Given the description of an element on the screen output the (x, y) to click on. 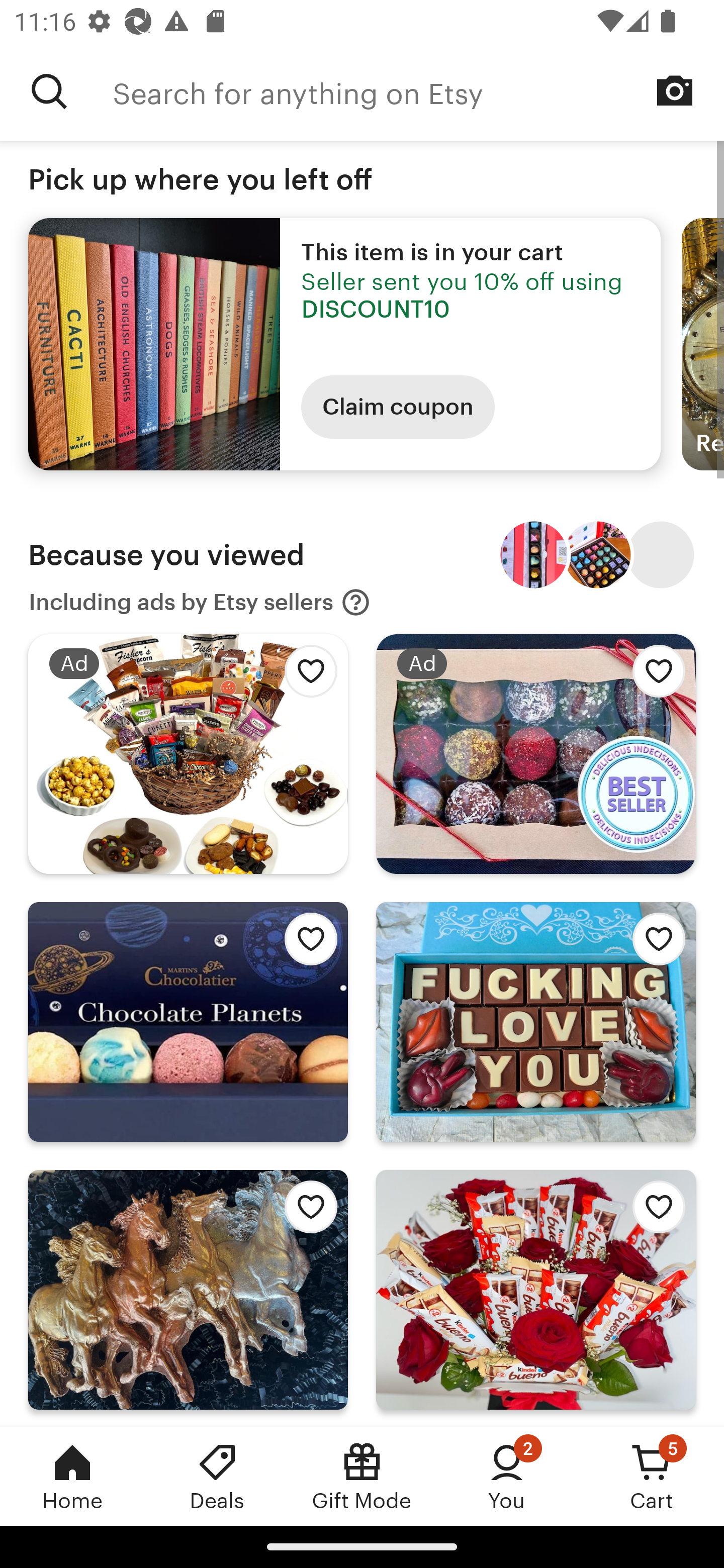
Search for anything on Etsy (49, 91)
Search by image (674, 90)
Search for anything on Etsy (418, 91)
Claim coupon (397, 407)
Custom Large Chocolate Box (660, 554)
Including ads by Etsy sellers (199, 601)
Add Premium roses & bueno bouquet to favorites (653, 1211)
Deals (216, 1475)
Gift Mode (361, 1475)
You, 2 new notifications You (506, 1475)
Cart, 5 new notifications Cart (651, 1475)
